Given the description of an element on the screen output the (x, y) to click on. 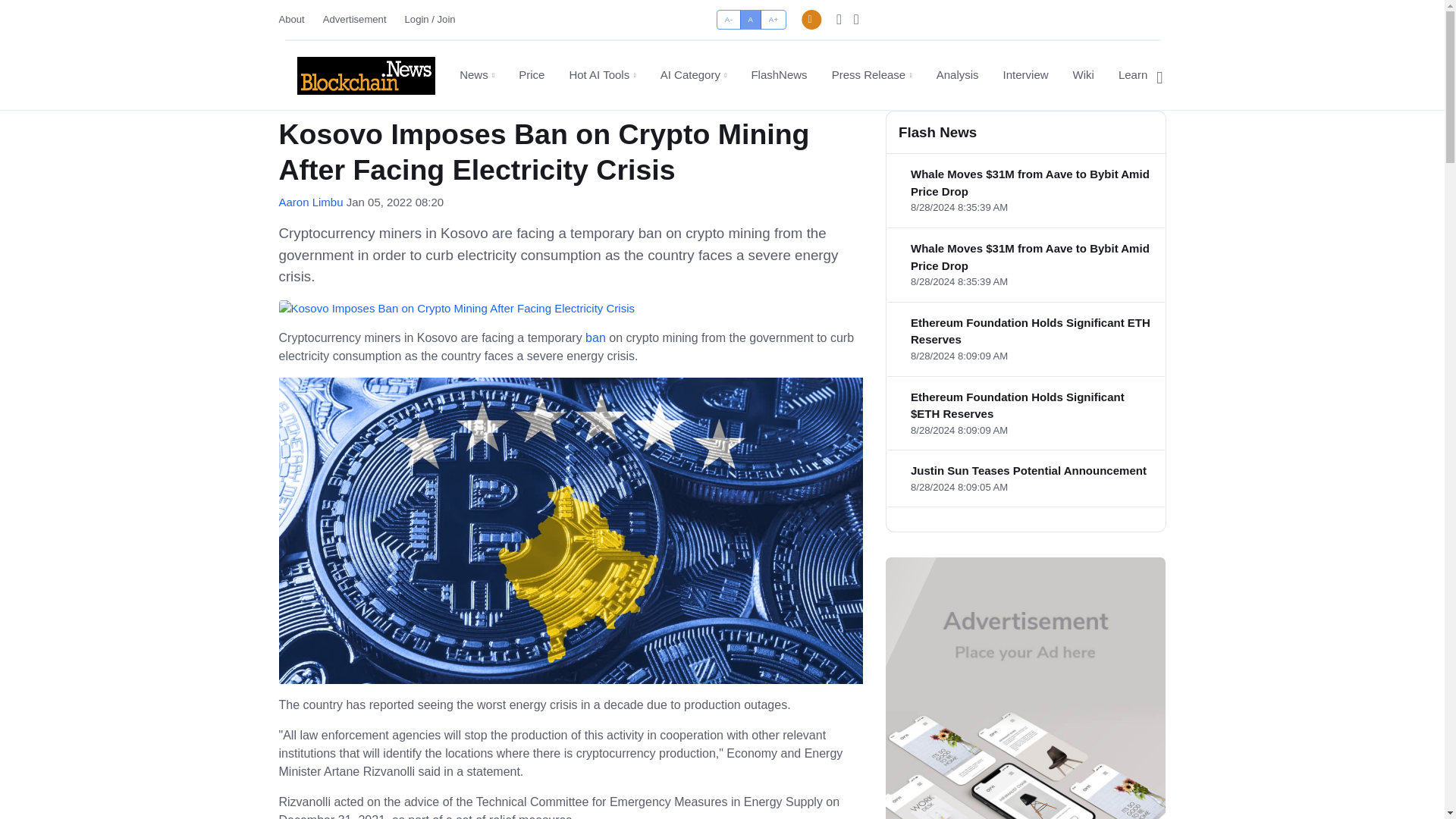
on (721, 14)
Advertisement (355, 19)
About (296, 19)
on (721, 14)
Hot AI Tools (601, 74)
on (721, 14)
